Given the description of an element on the screen output the (x, y) to click on. 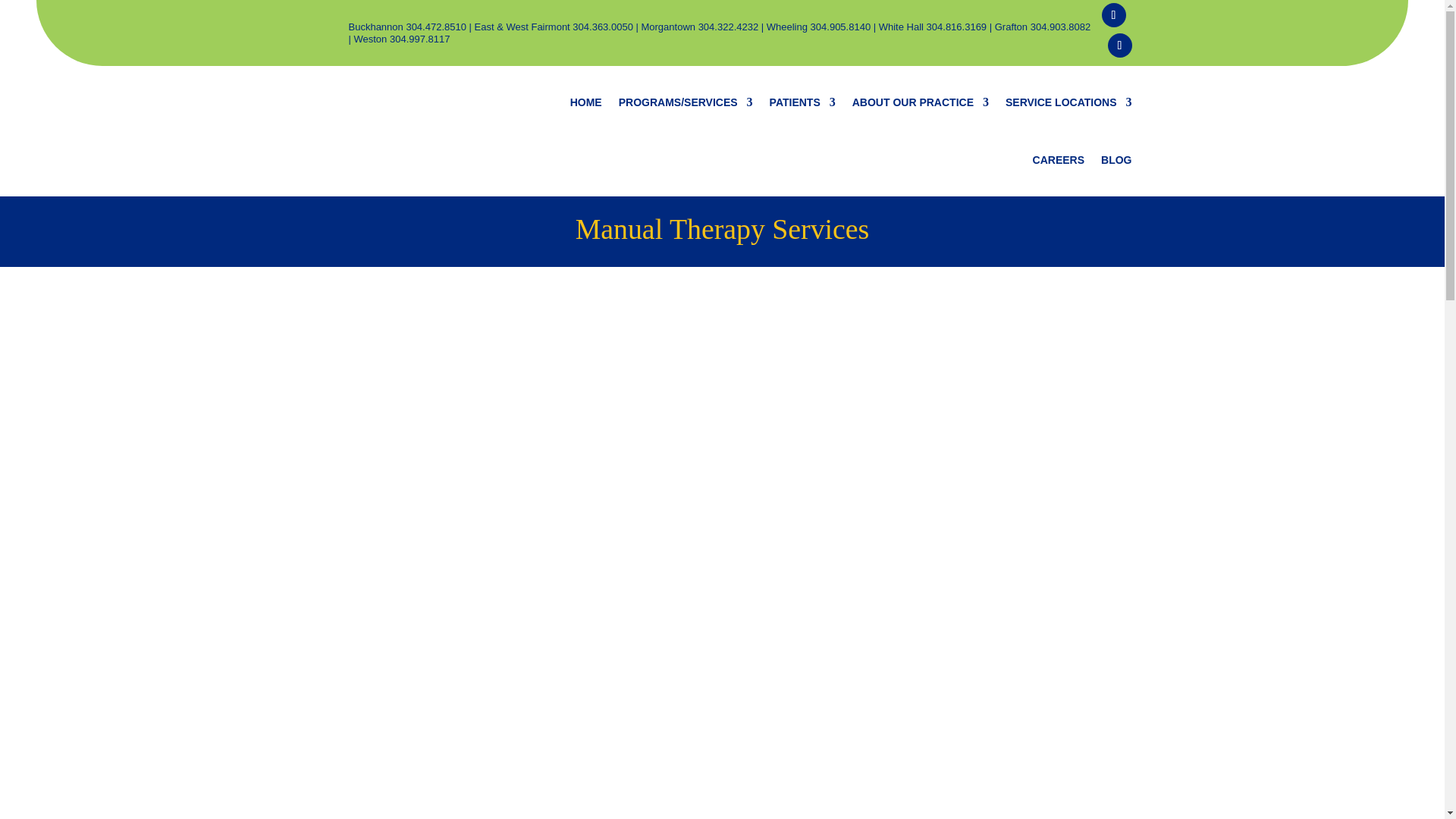
304.472.8510 (435, 26)
304.322.4232 (728, 26)
304.903.8082 (1058, 26)
304.816.3169 (956, 26)
304.363.0050 (602, 26)
Follow on Instagram (1118, 45)
304.905.8140 (840, 26)
Follow on Facebook (1112, 15)
304.997.8117 (418, 39)
PATIENTS (802, 102)
ABOUT OUR PRACTICE (919, 102)
SERVICE LOCATIONS (1069, 102)
